Given the description of an element on the screen output the (x, y) to click on. 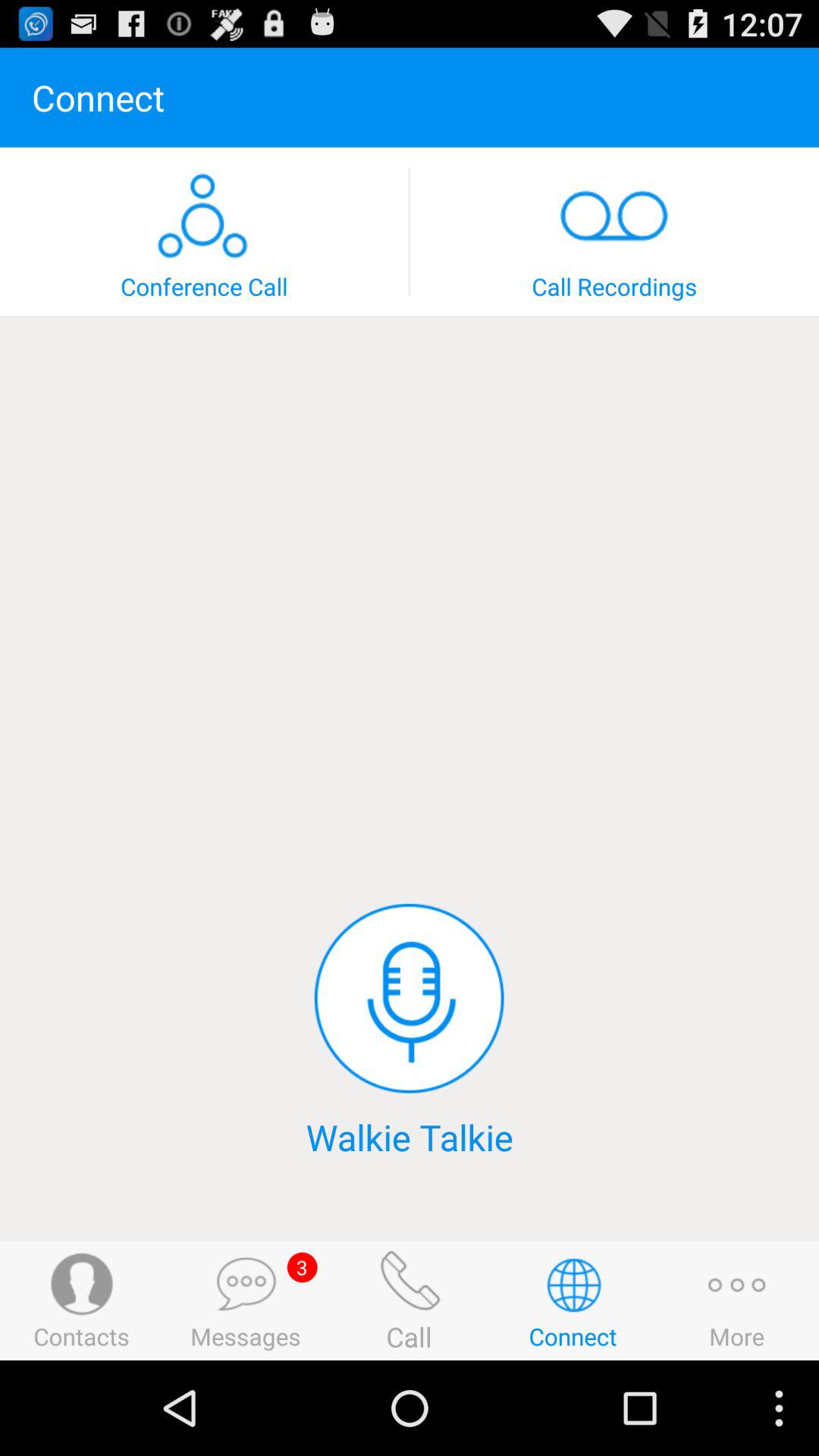
mike/speak switch (408, 998)
